Given the description of an element on the screen output the (x, y) to click on. 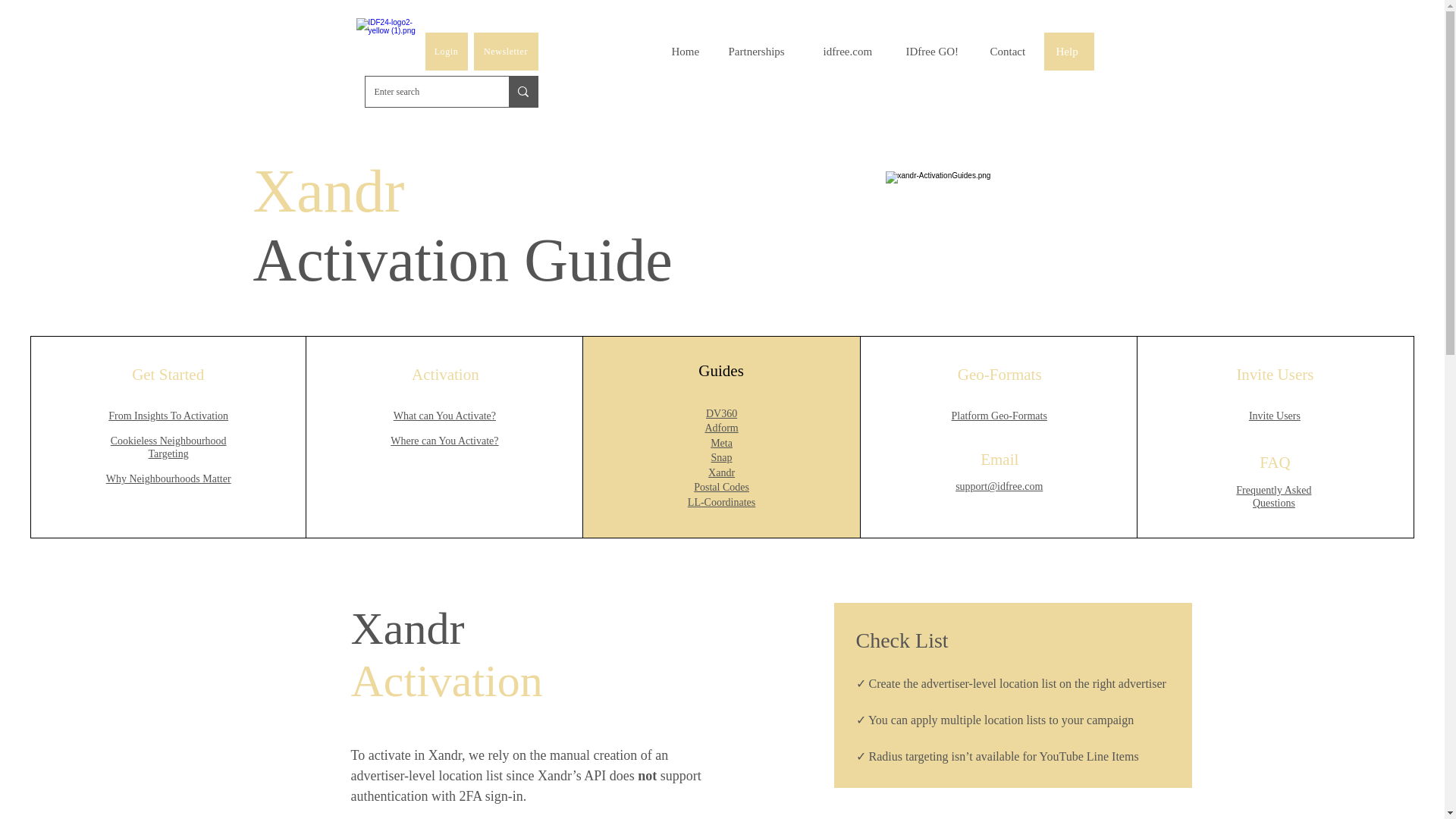
Where can You Activate? (443, 440)
idfree.com (851, 51)
Help (1068, 51)
IDfree GO! (934, 51)
Contact (1010, 51)
Home (388, 49)
What can You Activate? (444, 414)
Login (446, 51)
Cookieless Neighbourhood Targeting (168, 446)
DW-ActivationGuides.png (1026, 230)
Partnerships (763, 51)
Why Neighbourhoods Matter (168, 478)
Newsletter (505, 51)
From Insights To Activation (167, 414)
Activation (445, 374)
